Given the description of an element on the screen output the (x, y) to click on. 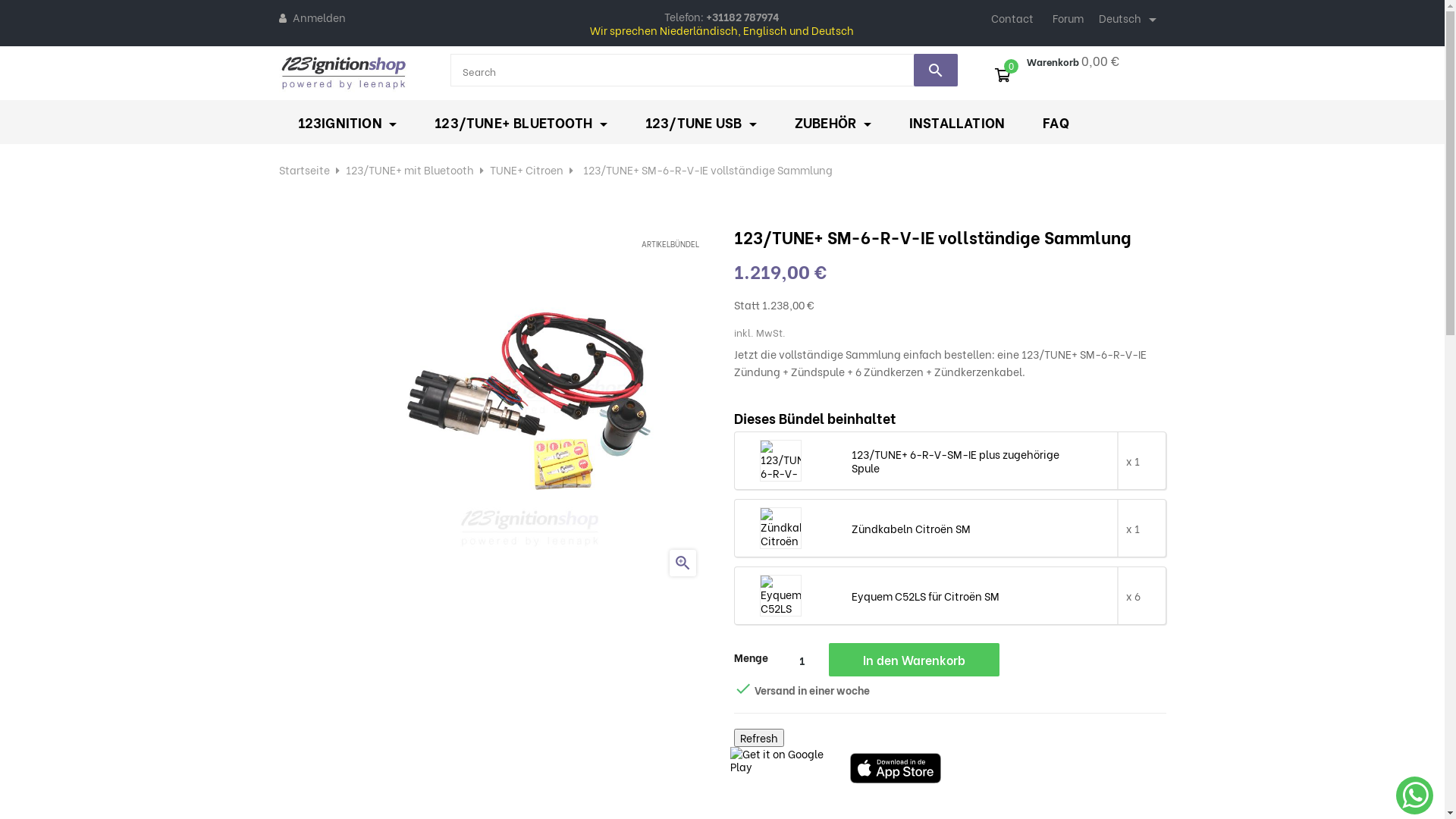
INSTALLATION Element type: text (956, 122)
Forum Element type: text (1067, 17)
TUNE+ Citroen Element type: text (526, 168)
Startseite Element type: text (304, 168)
123IGNITION Element type: text (347, 122)
search Element type: text (935, 69)
123/TUNE+ BLUETOOTH Element type: text (520, 122)
FAQ Element type: text (1055, 122)
All Categories
keyboard_arrow_down Element type: text (507, 70)
Refresh Element type: text (759, 737)
Anmelden Element type: text (318, 17)
Contact Element type: text (1012, 17)
In den Warenkorb Element type: text (913, 659)
123/TUNE+ mit Bluetooth Element type: text (409, 168)
123/TUNE USB Element type: text (700, 122)
